Given the description of an element on the screen output the (x, y) to click on. 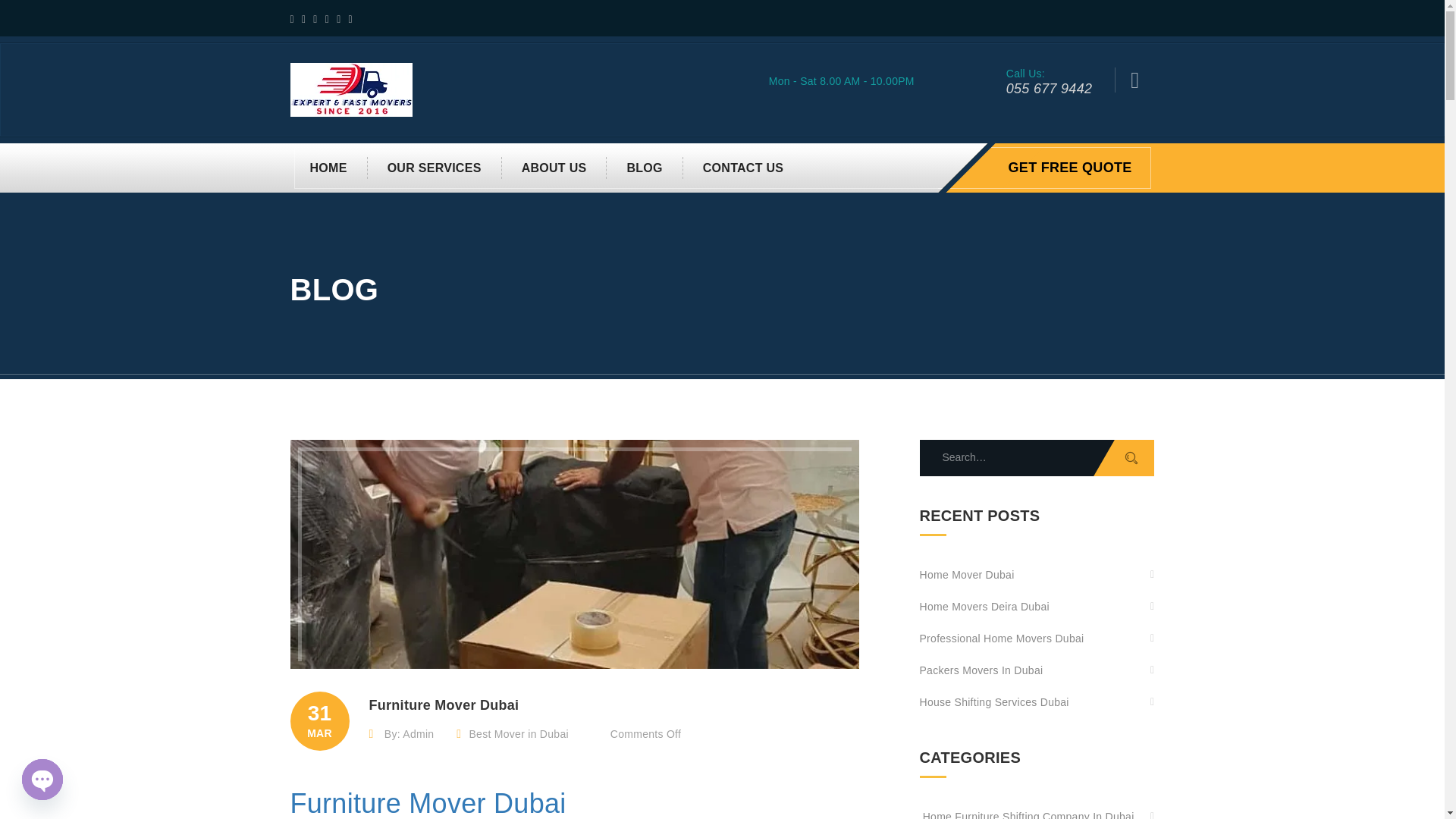
BLOG (644, 168)
Best Mover in Dubai (517, 734)
HOME (327, 168)
Go (1124, 457)
GET FREE QUOTE (1070, 167)
055 677 9442 (1049, 88)
Go (1124, 457)
Go (1105, 153)
OUR SERVICES (435, 168)
